Given the description of an element on the screen output the (x, y) to click on. 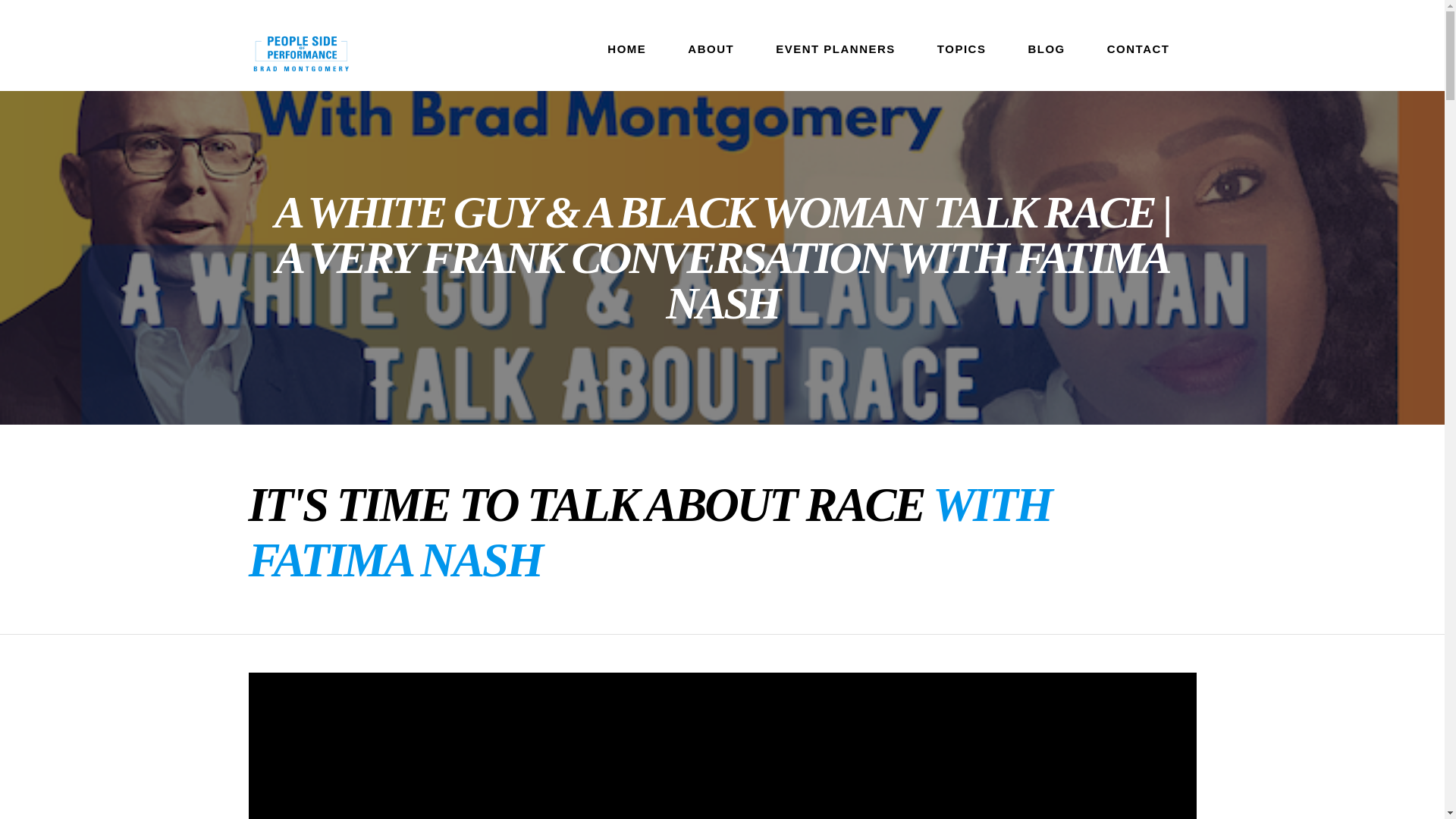
EVENT PLANNERS (835, 60)
CONTACT (1138, 60)
BLOG (1045, 60)
HOME (626, 60)
Transparentlogo300 (300, 53)
ABOUT (710, 60)
TOPICS (961, 60)
Home (626, 60)
